Given the description of an element on the screen output the (x, y) to click on. 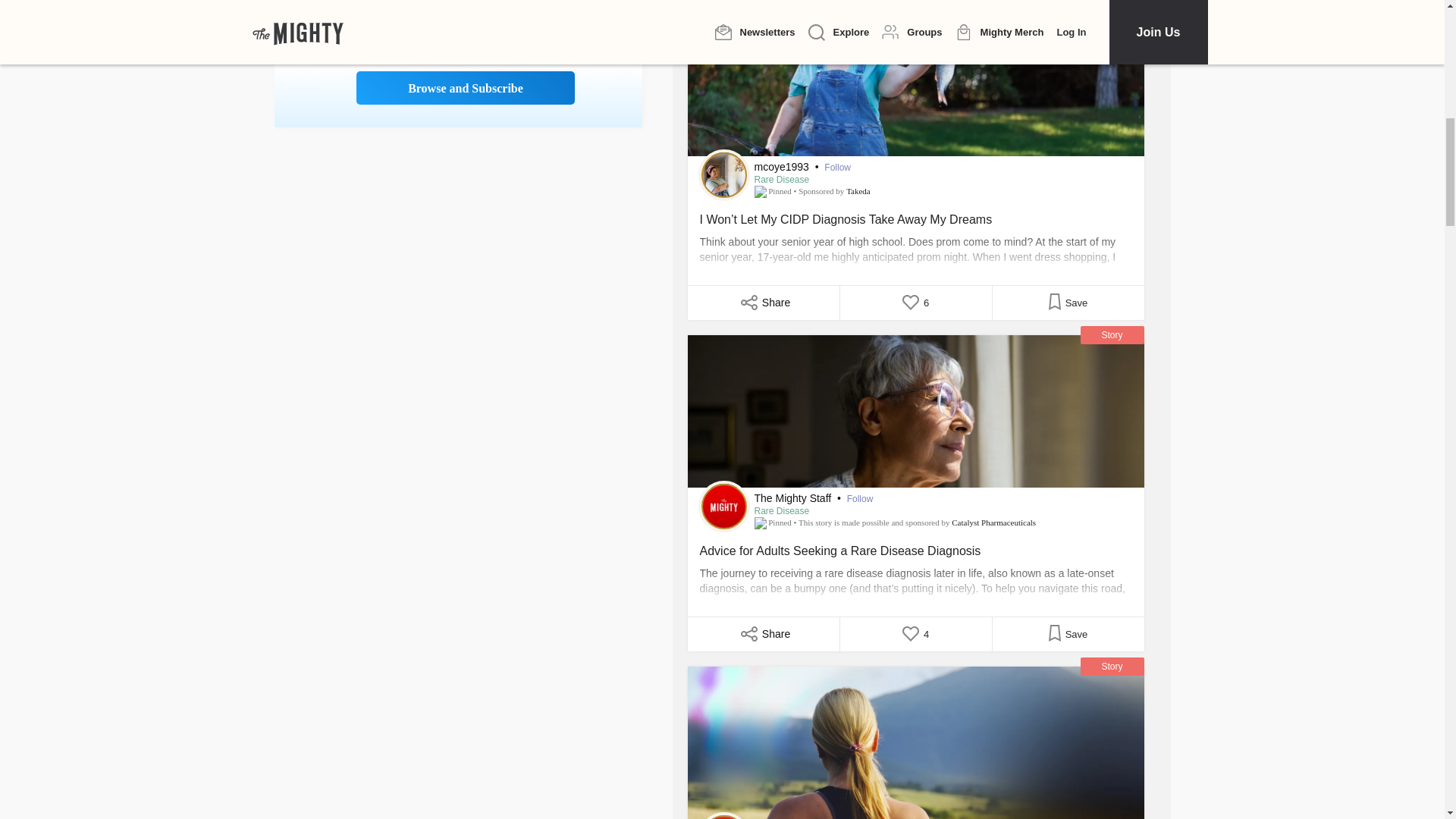
Advice for Adults Seeking a Rare Disease Diagnosis (914, 410)
Advice for Adults Seeking a Rare Disease Diagnosis (914, 572)
Visit mcoye1993's profile (722, 175)
Browse and Subscribe (465, 87)
Visit The Mighty Staff's profile (722, 506)
